Given the description of an element on the screen output the (x, y) to click on. 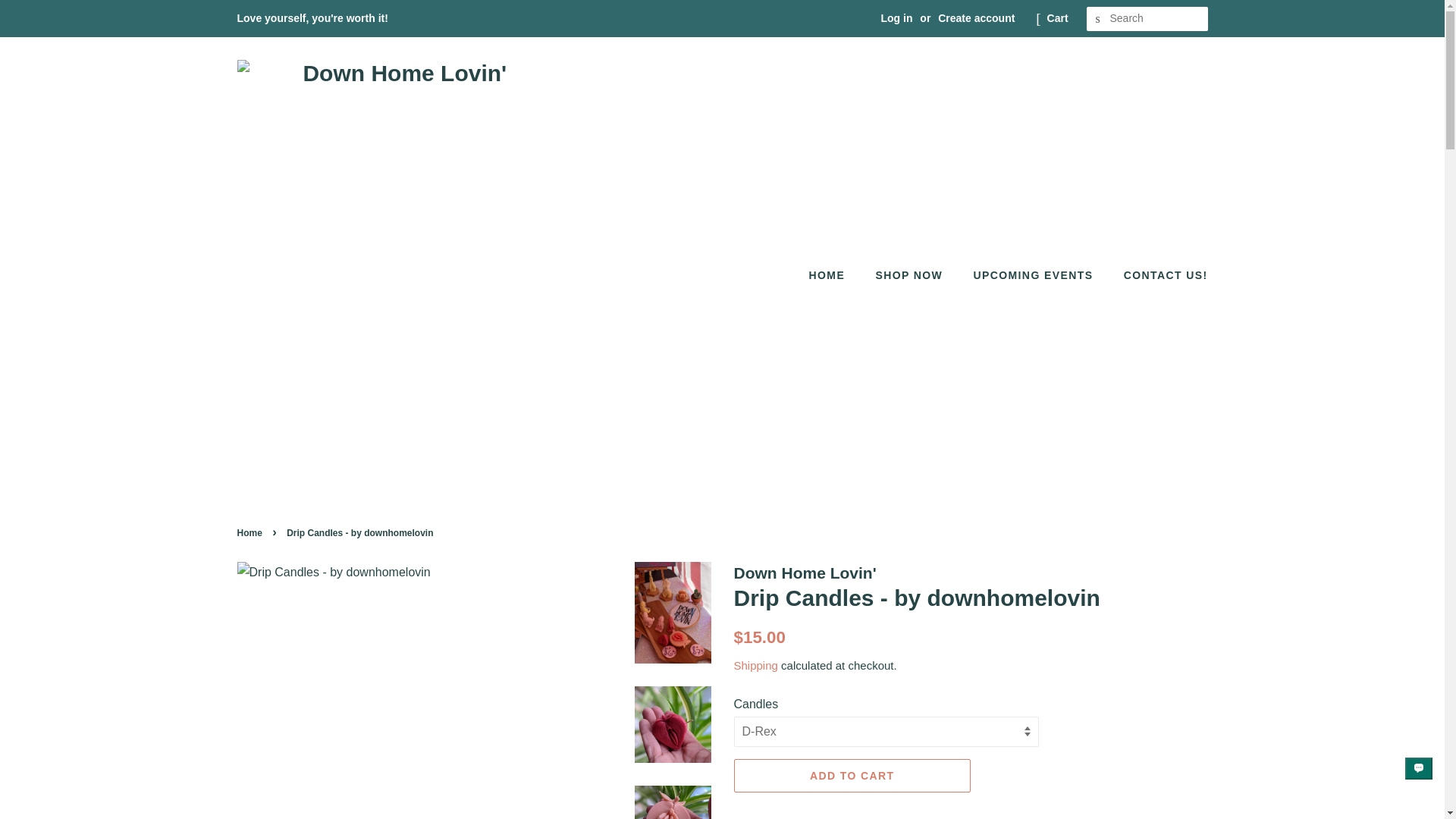
SEARCH (1097, 18)
Home (249, 532)
HOME (834, 275)
UPCOMING EVENTS (1034, 275)
SHOP NOW (910, 275)
Create account (975, 18)
CONTACT US! (1160, 275)
Back to the frontpage (249, 532)
Log in (896, 18)
Cart (1057, 18)
